Given the description of an element on the screen output the (x, y) to click on. 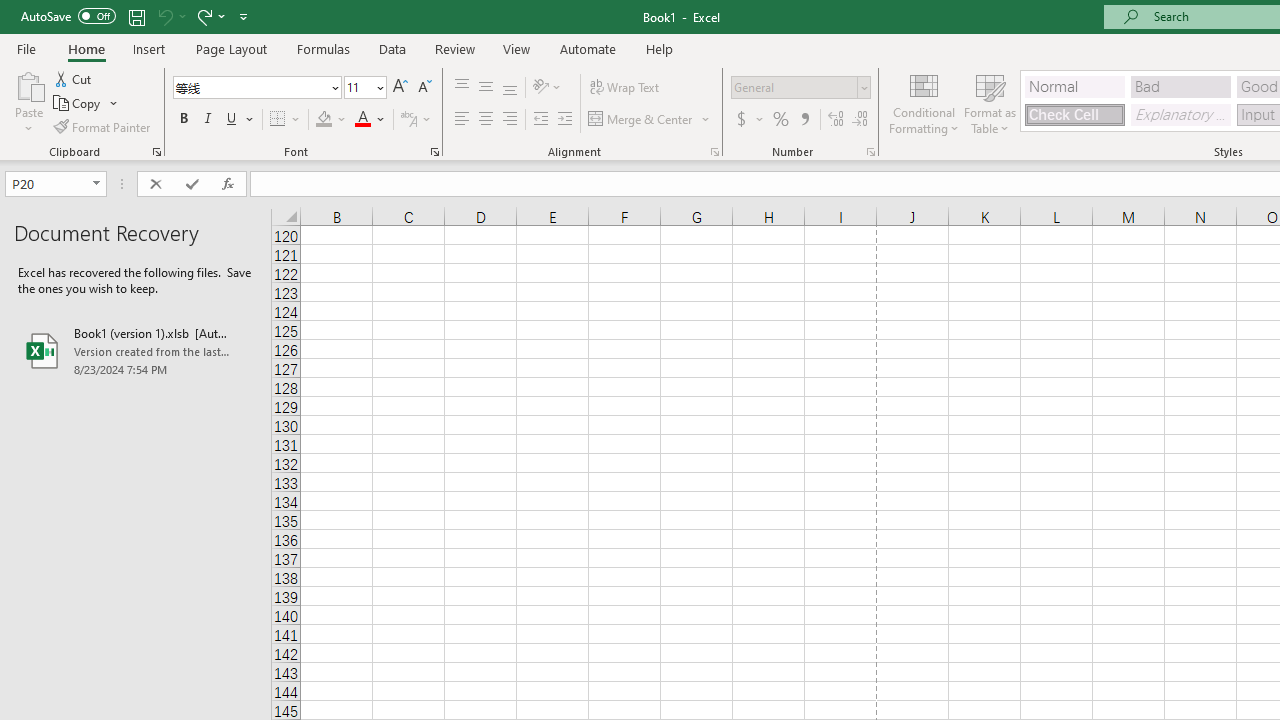
Cut (73, 78)
Format Painter (103, 126)
Merge & Center (649, 119)
Font Color (370, 119)
Percent Style (781, 119)
Top Align (461, 87)
Borders (285, 119)
Accounting Number Format (741, 119)
Increase Font Size (399, 87)
